Given the description of an element on the screen output the (x, y) to click on. 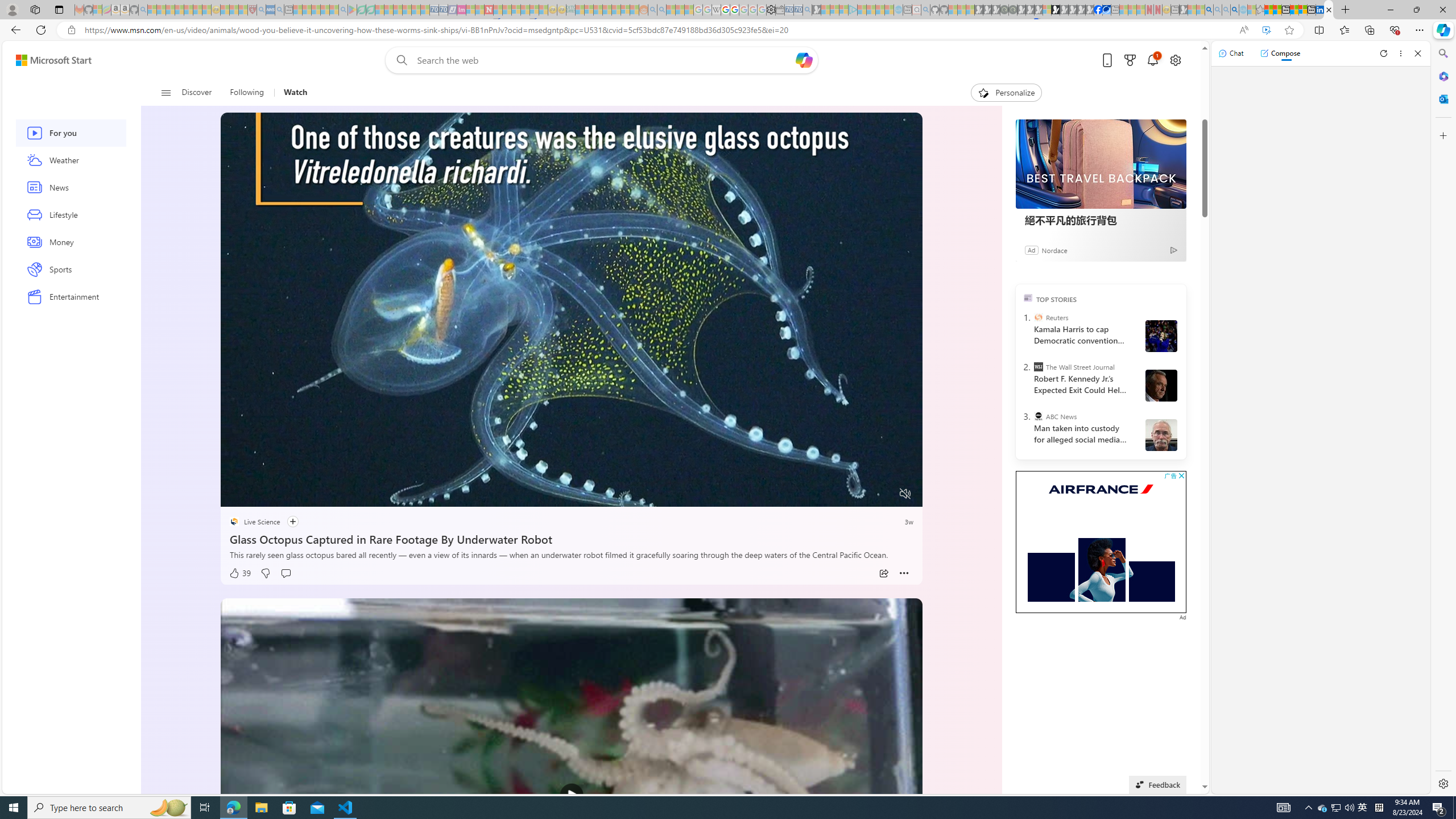
Enhance video (1266, 29)
Expert Portfolios - Sleeping (606, 9)
Quality Settings (838, 493)
Seek Forward (283, 493)
